Given the description of an element on the screen output the (x, y) to click on. 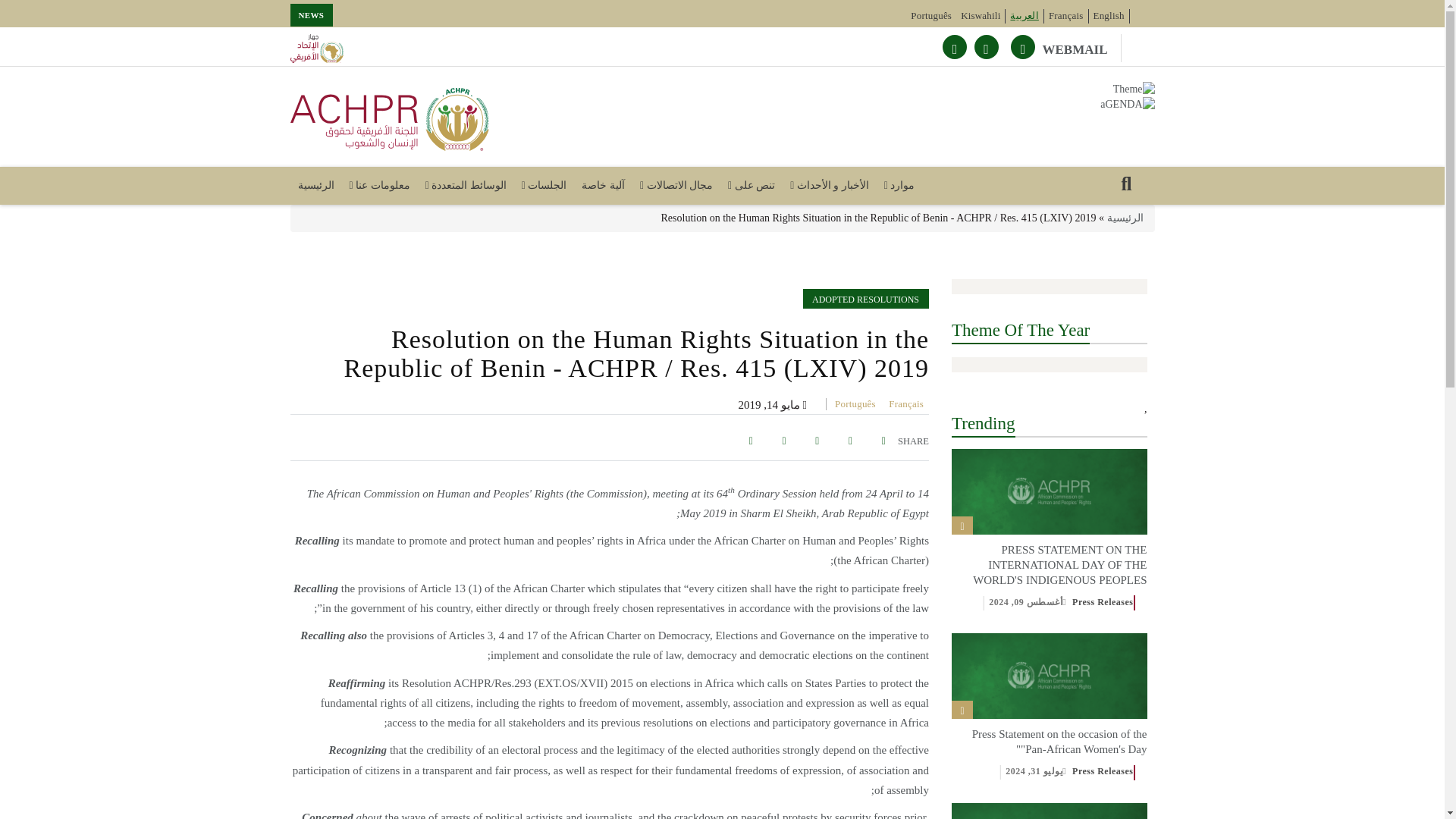
English (1108, 15)
Twitter (1022, 46)
flickr (954, 46)
WEBMAIL (1082, 48)
Youtube (986, 46)
french (905, 403)
Kiswahili (980, 15)
